Given the description of an element on the screen output the (x, y) to click on. 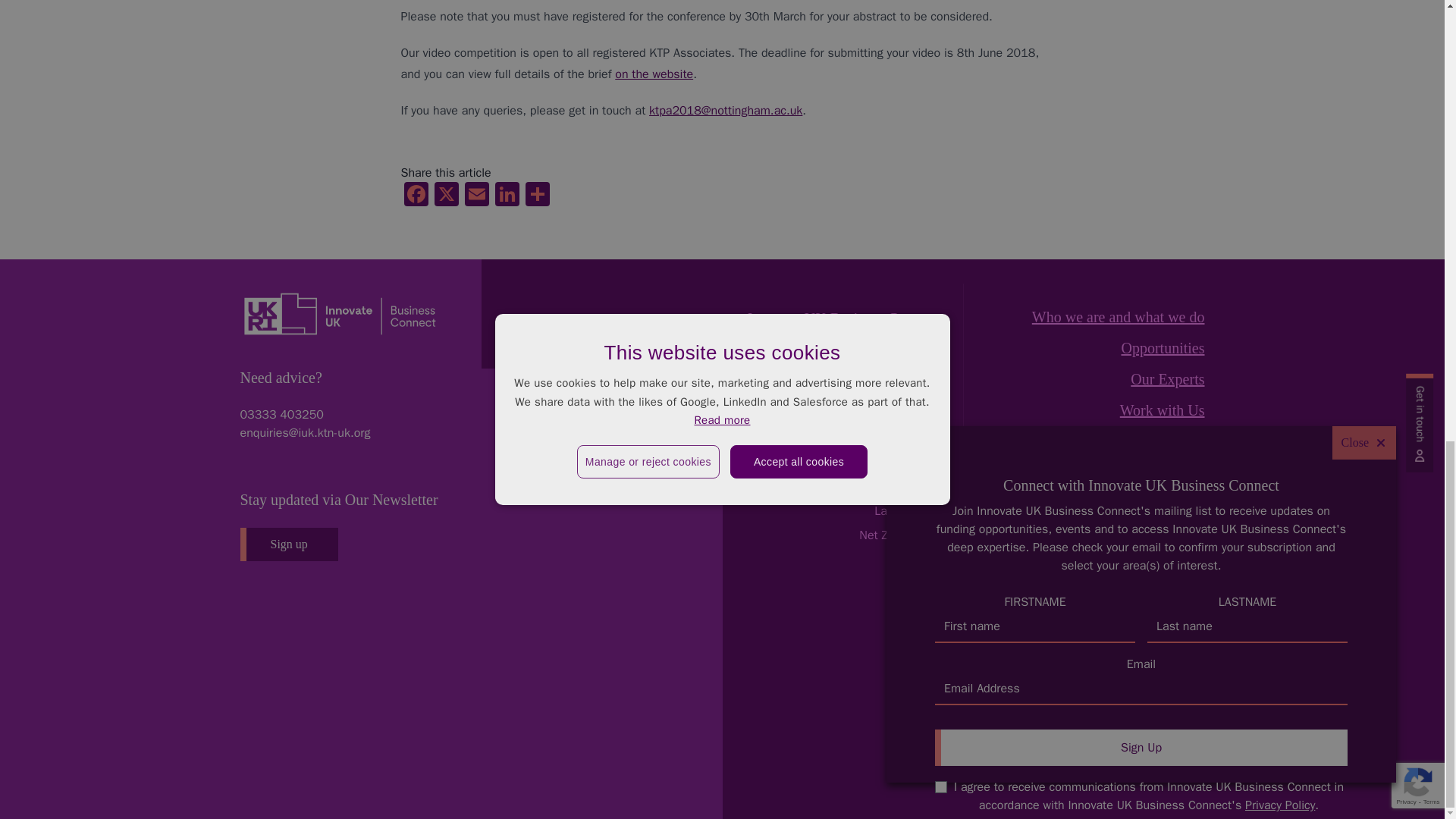
Facebook (415, 195)
LinkedIn (506, 195)
X (445, 195)
Email (476, 195)
